Given the description of an element on the screen output the (x, y) to click on. 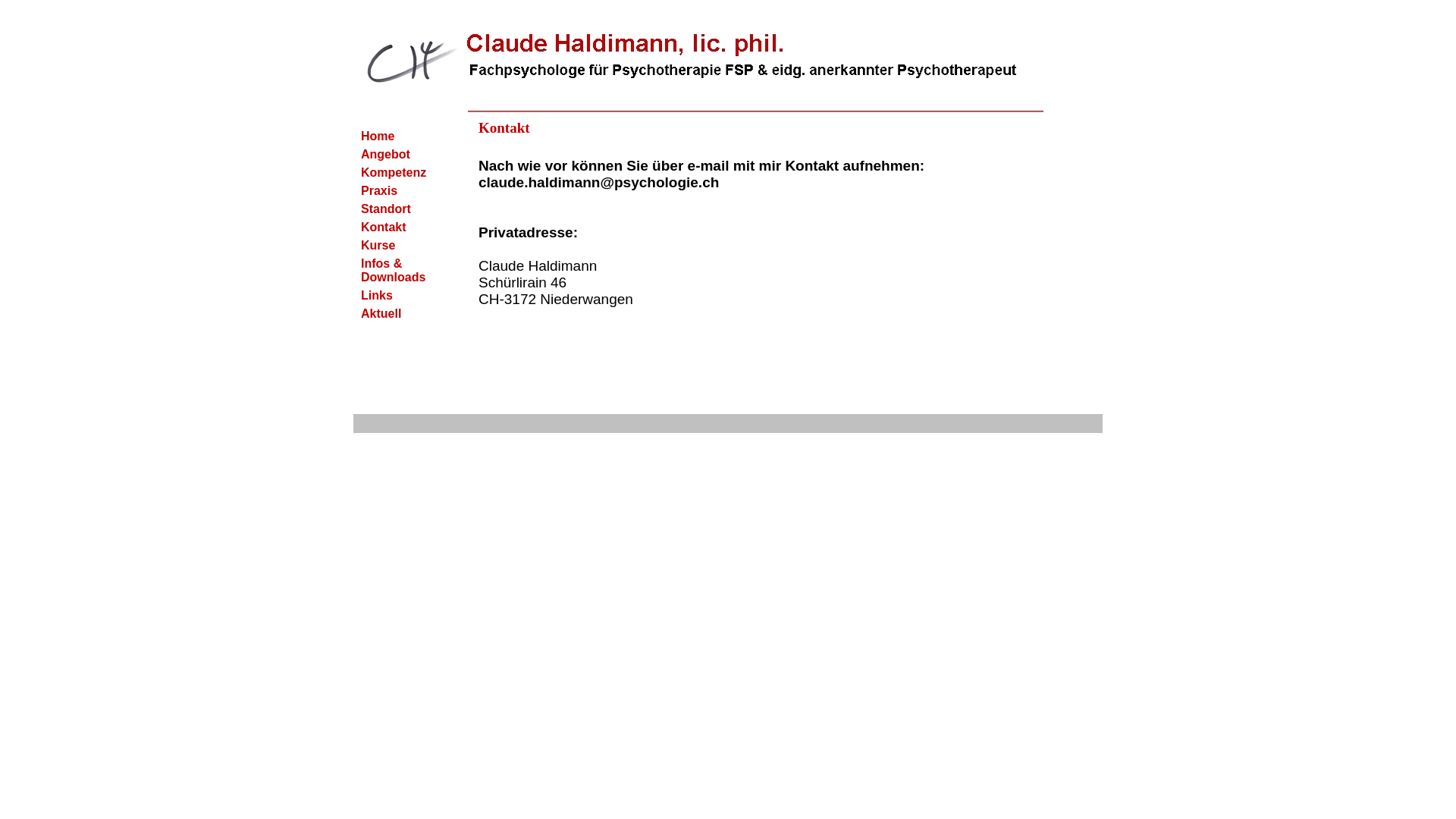
Aktuell Element type: text (403, 313)
Home Element type: text (403, 136)
Standort Element type: text (403, 209)
Kompetenz Element type: text (403, 172)
Kontakt Element type: text (403, 227)
Angebot Element type: text (403, 154)
Praxis Element type: text (403, 191)
Infos & Downloads Element type: text (403, 270)
Links Element type: text (403, 295)
Kurse Element type: text (403, 245)
